Given the description of an element on the screen output the (x, y) to click on. 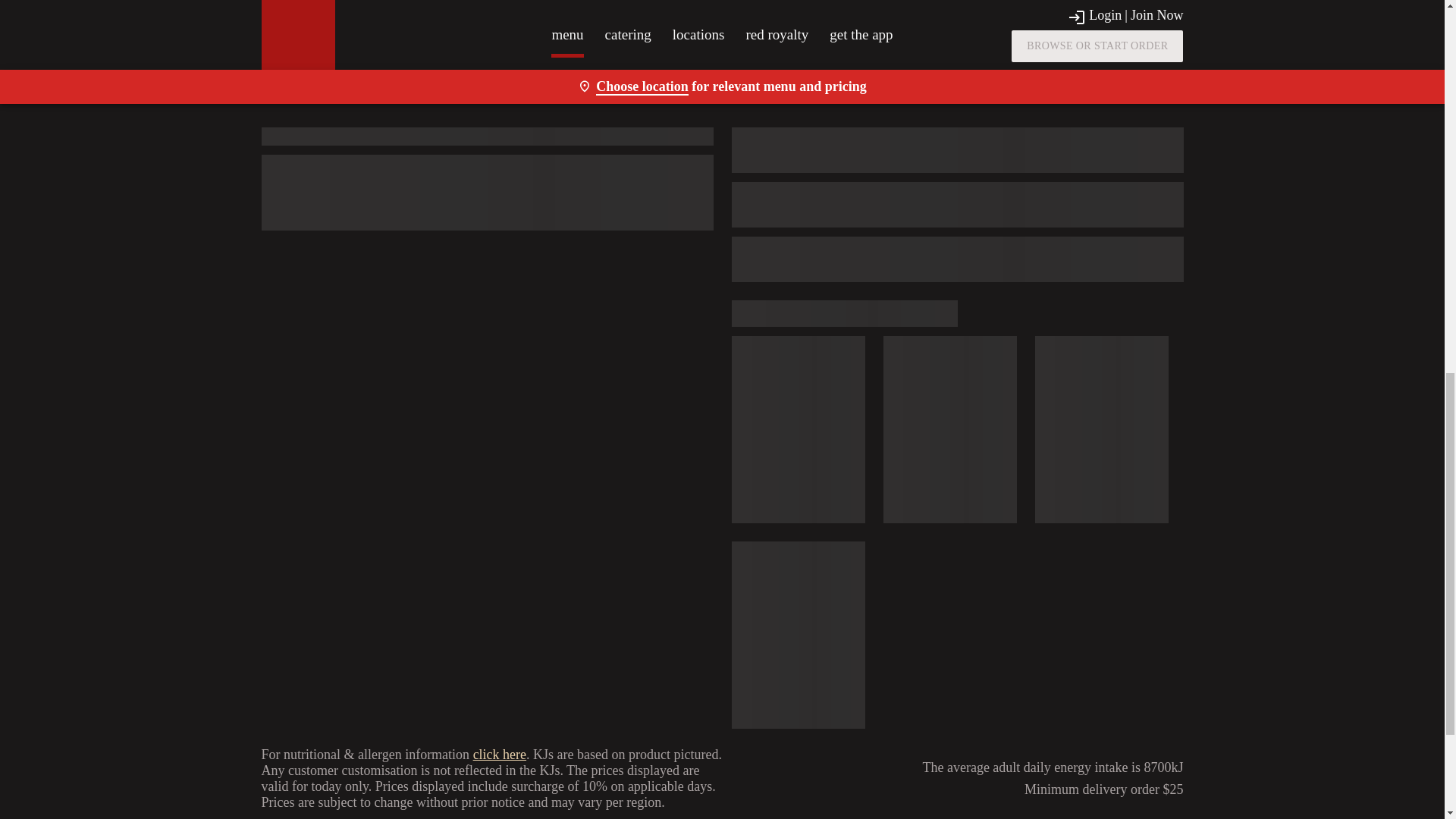
click here (499, 754)
